Given the description of an element on the screen output the (x, y) to click on. 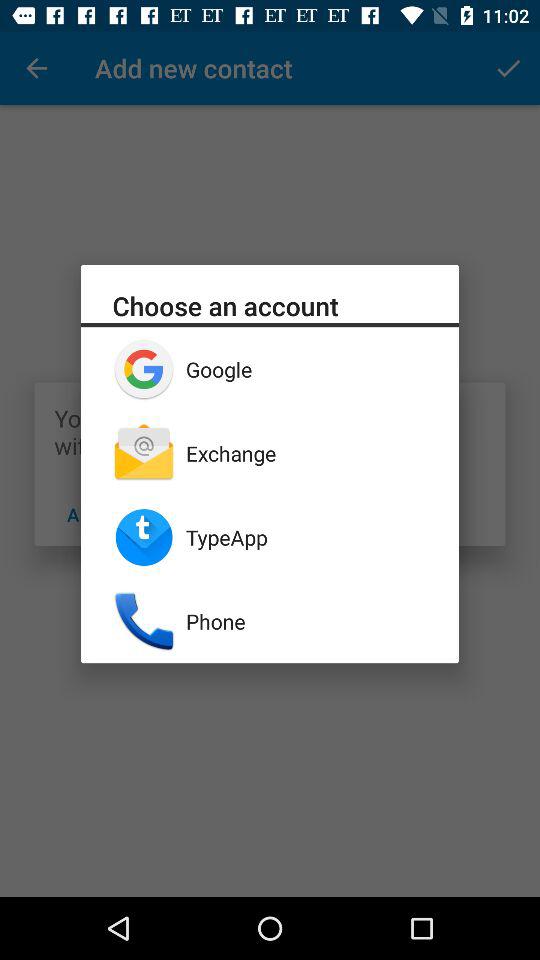
choose google app (306, 369)
